Given the description of an element on the screen output the (x, y) to click on. 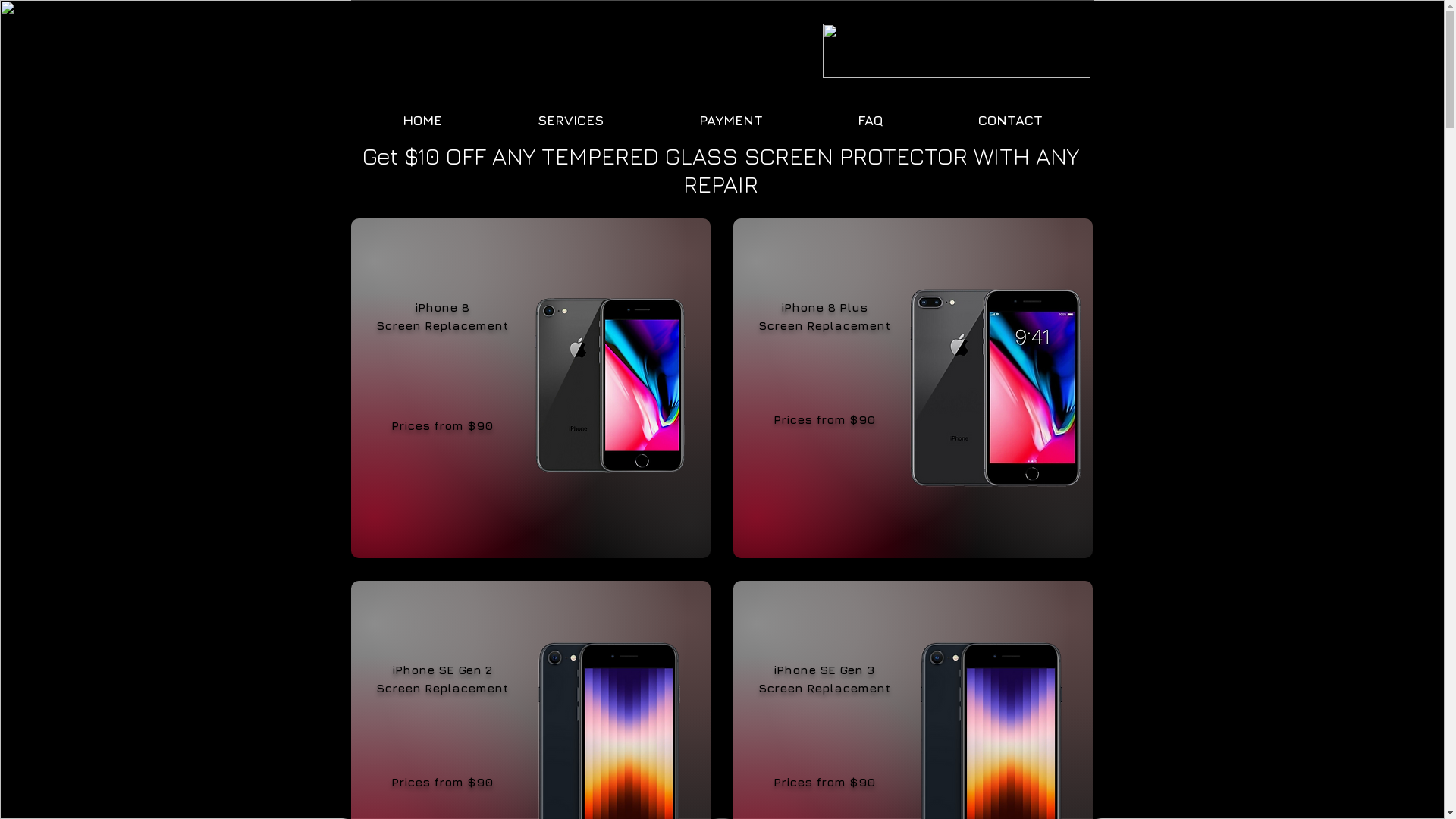
FAQ Element type: text (870, 119)
PAYMENT Element type: text (730, 119)
HOME Element type: text (421, 119)
CONTACT Element type: text (1009, 119)
SERVICES Element type: text (569, 119)
